Given the description of an element on the screen output the (x, y) to click on. 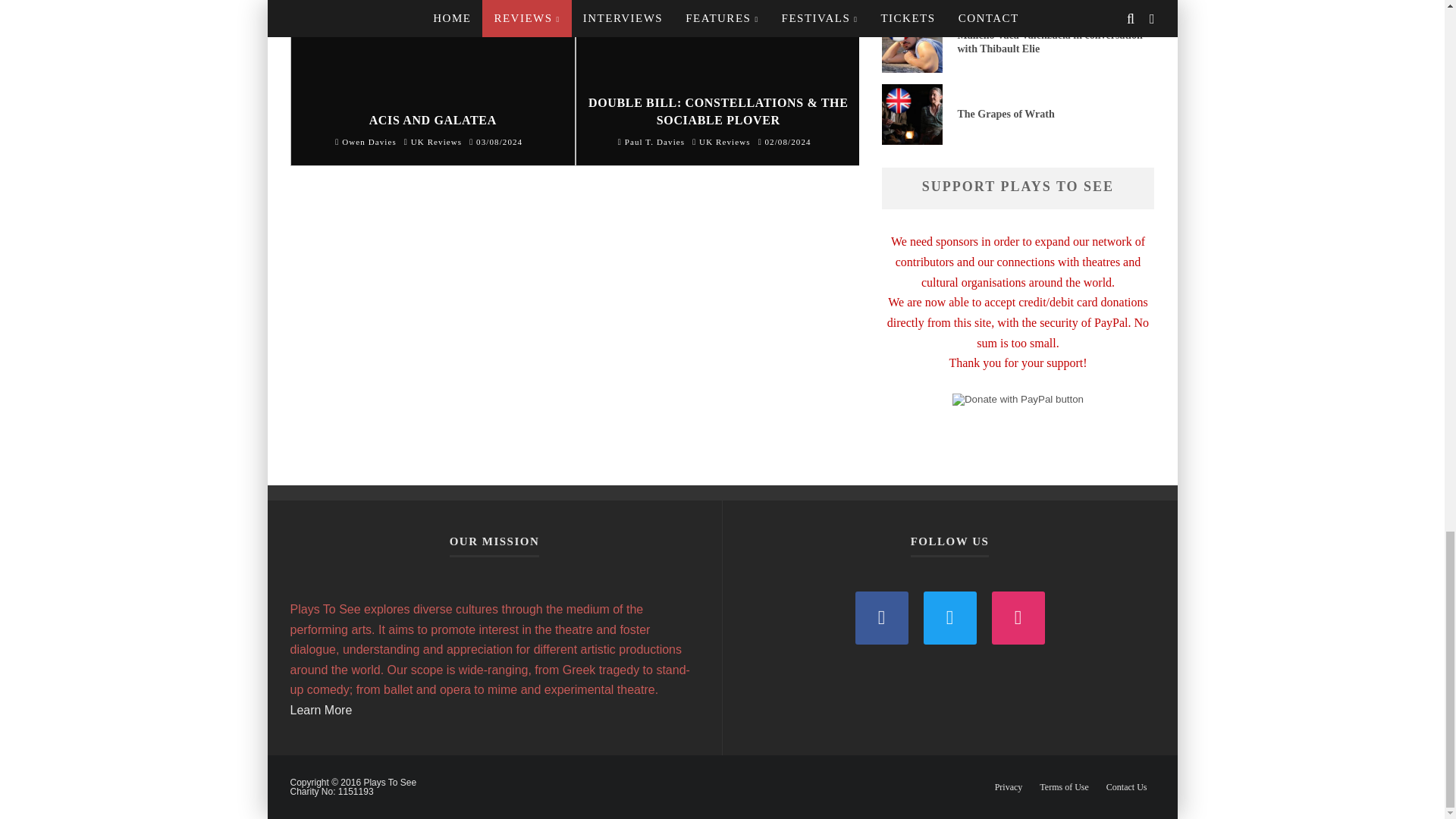
PayPal - The safer, easier way to pay online! (1017, 399)
